Given the description of an element on the screen output the (x, y) to click on. 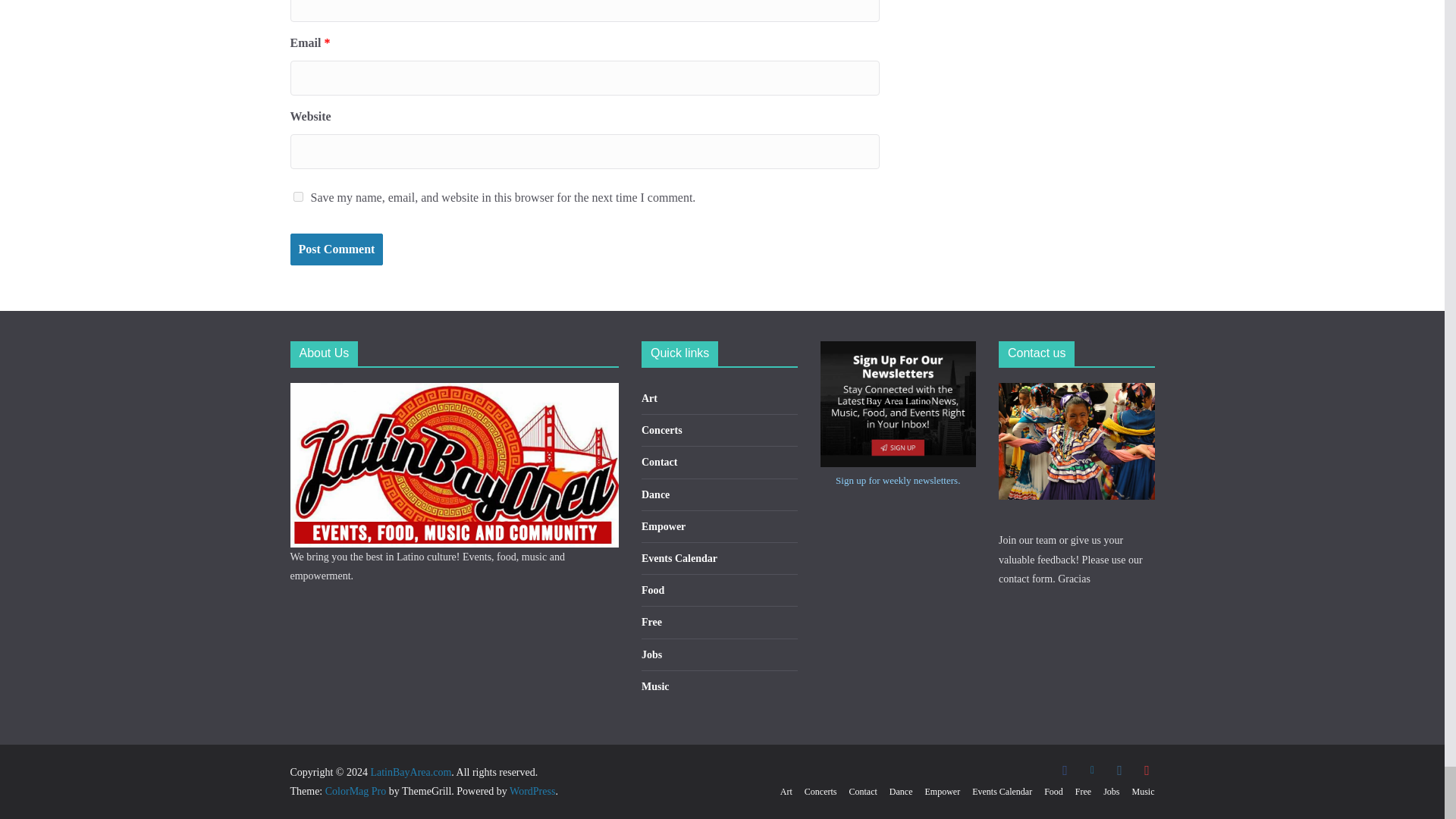
yes (297, 196)
Post Comment (335, 249)
